Given the description of an element on the screen output the (x, y) to click on. 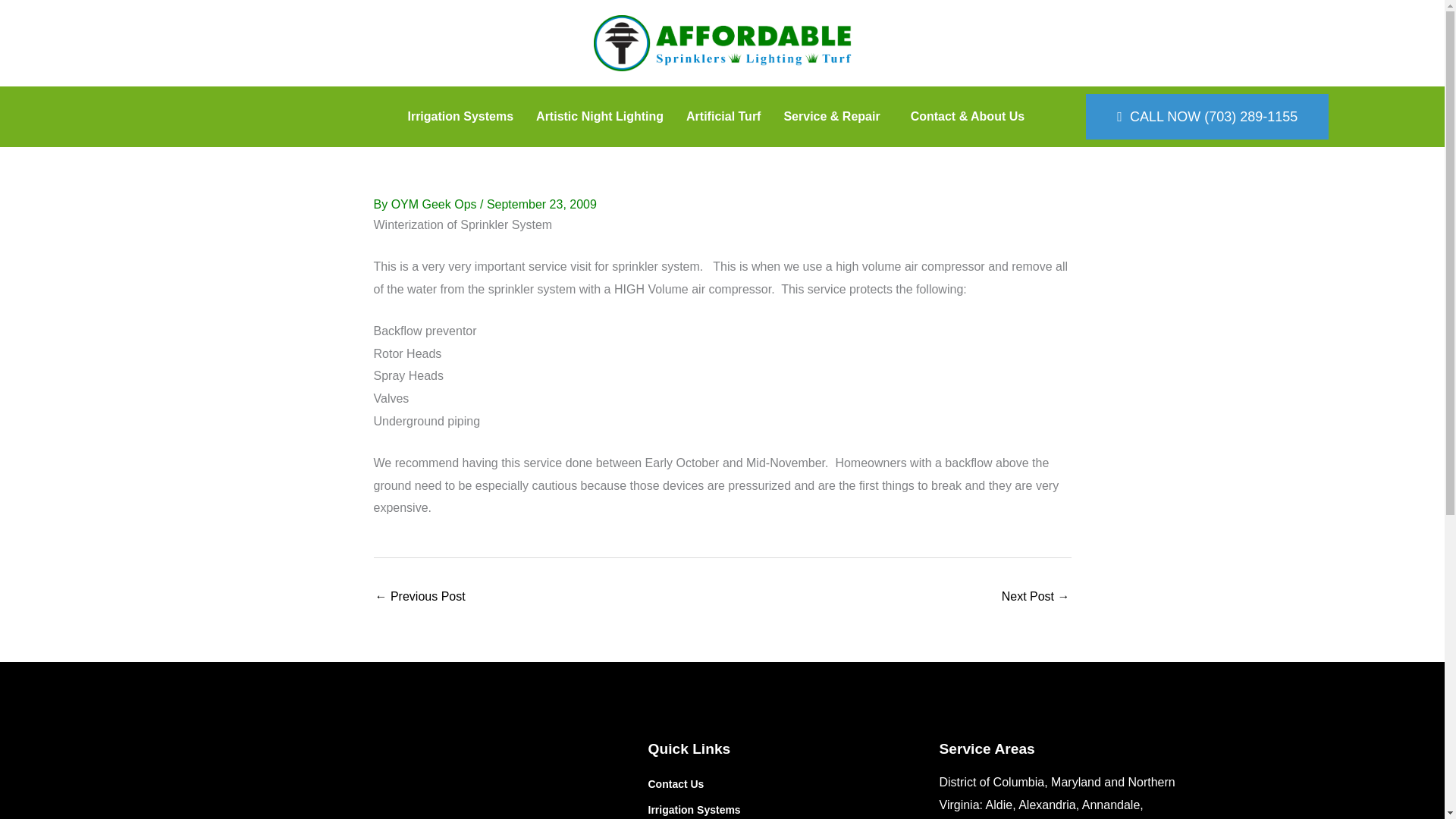
Artistic Night Lighting (599, 116)
View all posts by OYM Geek Ops (435, 204)
Contact Us (770, 783)
Artificial Turf (723, 116)
Irrigation Systems (460, 116)
Spring has sprung! (1035, 597)
Irrigation Systems (770, 807)
OYM Geek Ops (435, 204)
